Given the description of an element on the screen output the (x, y) to click on. 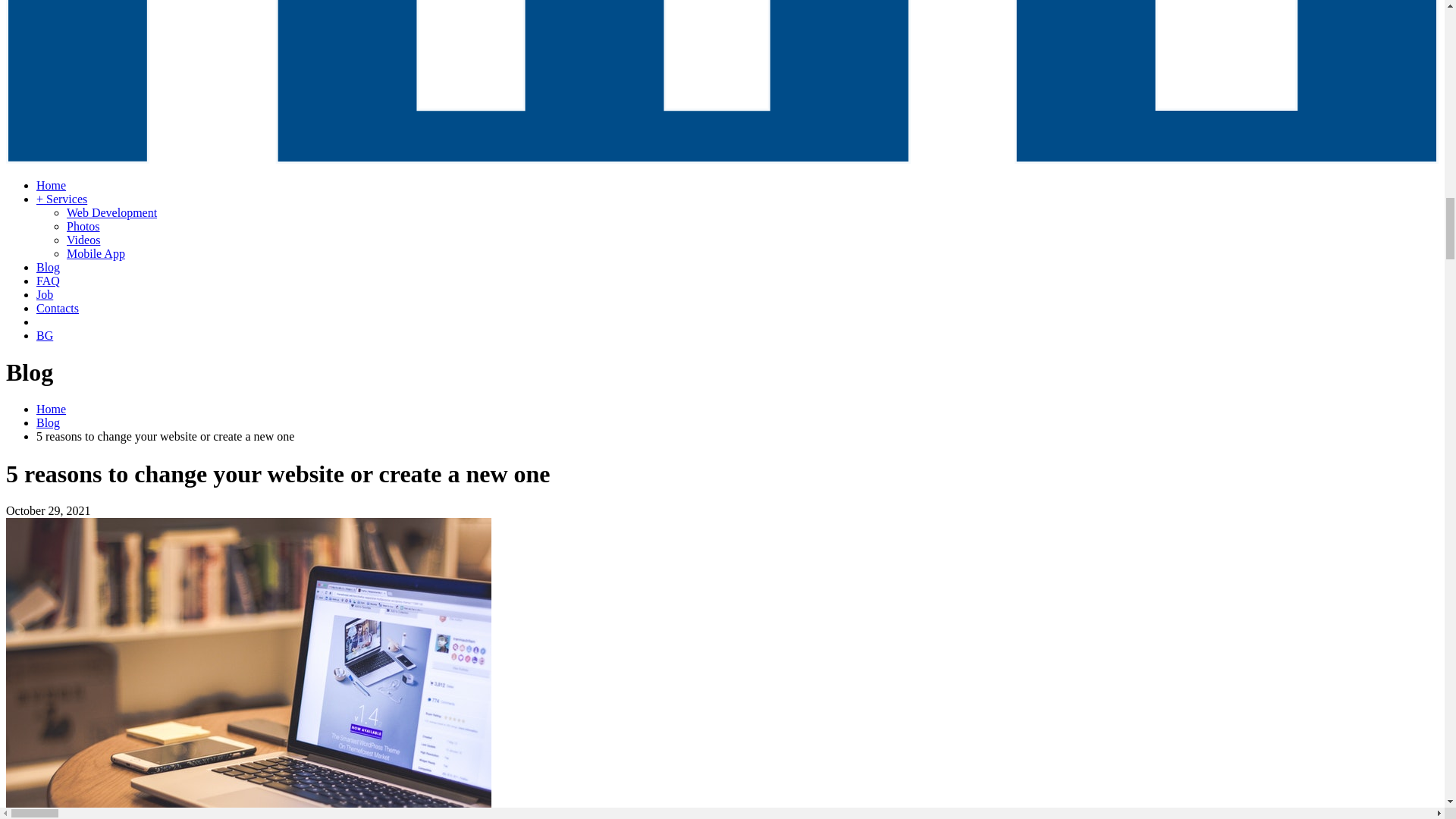
Blog (47, 422)
BG (44, 335)
Videos (83, 239)
Home (50, 408)
Photos (83, 226)
FAQ (47, 280)
Web Development (111, 212)
Blog (47, 267)
Mobile App (95, 253)
Job (44, 294)
Change your language to Bulgarian (44, 335)
Contacts (57, 308)
Home (50, 185)
